Given the description of an element on the screen output the (x, y) to click on. 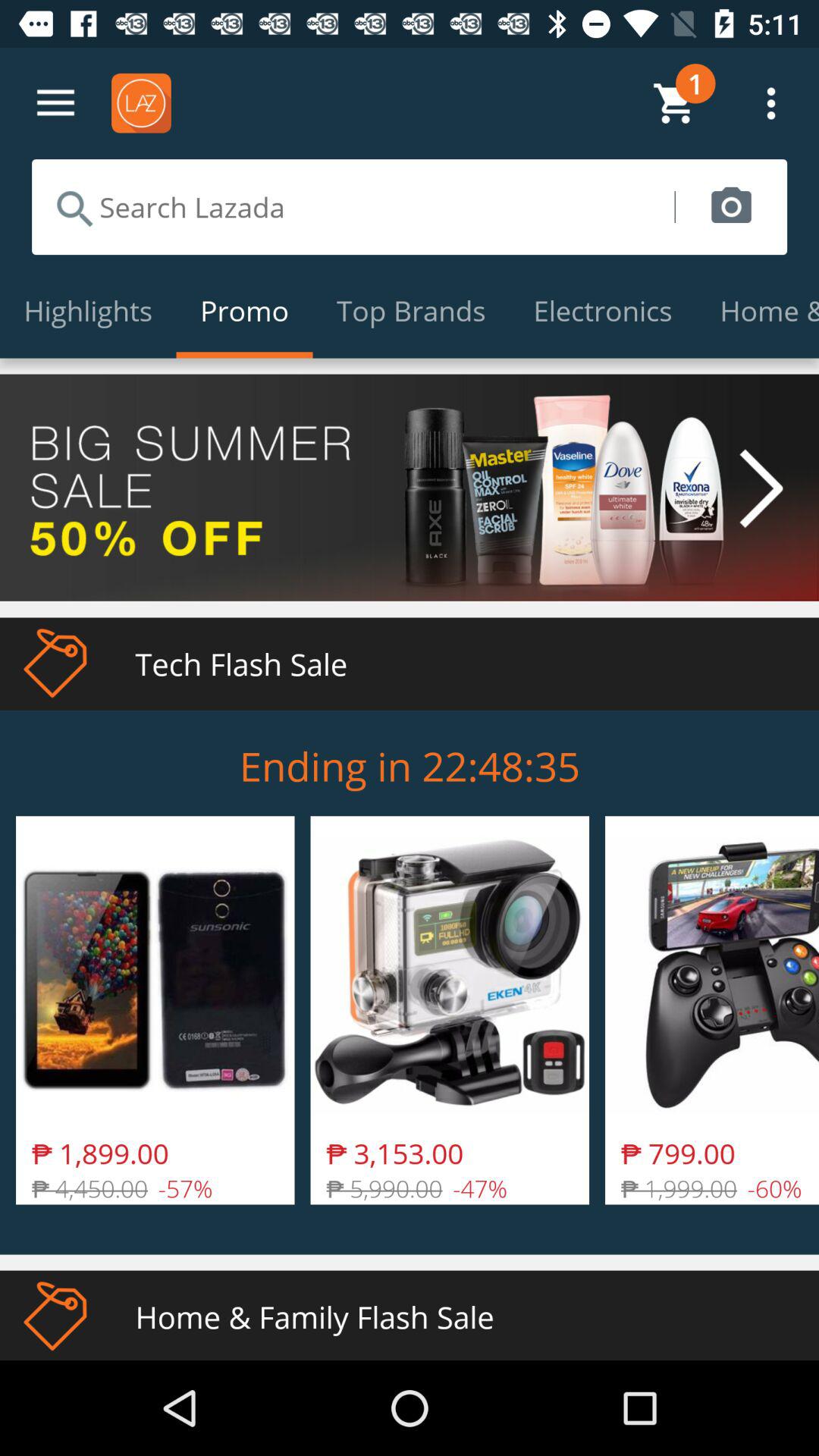
press item above the electronics (731, 206)
